Given the description of an element on the screen output the (x, y) to click on. 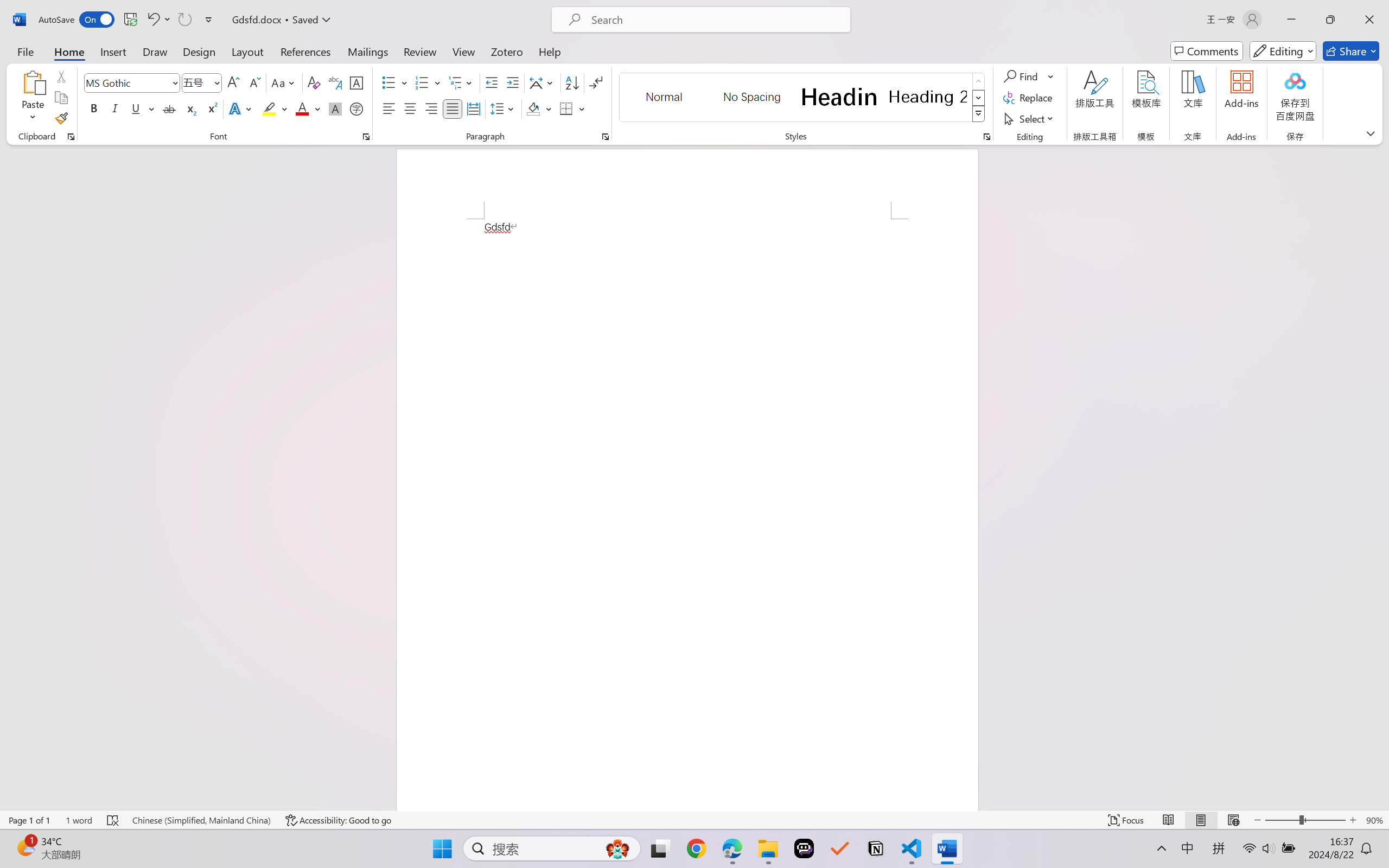
Page 1 content (687, 514)
Language Chinese (Simplified, Mainland China) (201, 819)
Distributed (473, 108)
Show/Hide Editing Marks (595, 82)
Multilevel List (461, 82)
Asian Layout (542, 82)
